Given the description of an element on the screen output the (x, y) to click on. 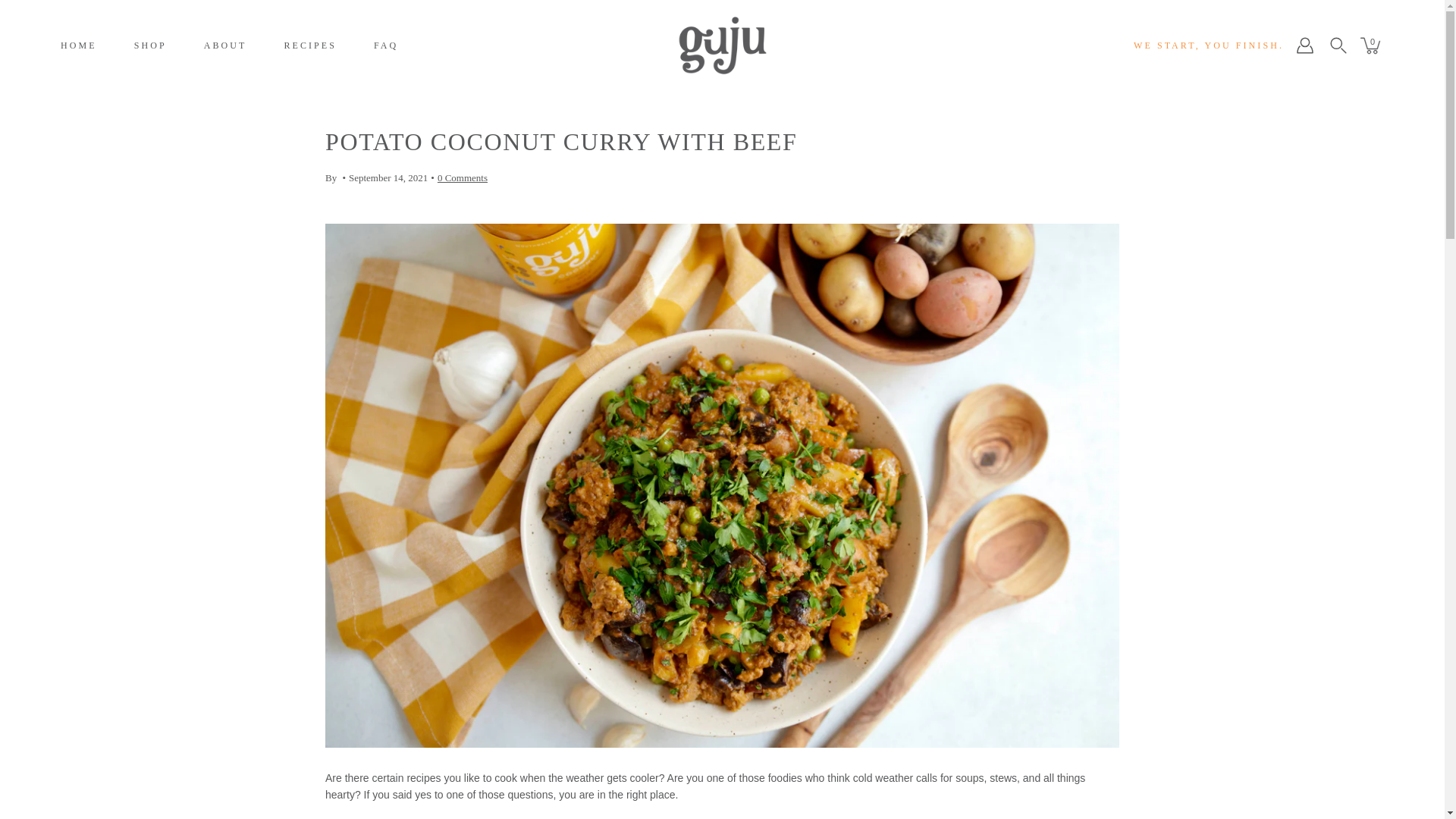
HOME (79, 45)
0 Comments (462, 177)
RECIPES (309, 45)
SHOP (150, 45)
FAQ (385, 45)
ABOUT (225, 45)
0 (1371, 45)
